Given the description of an element on the screen output the (x, y) to click on. 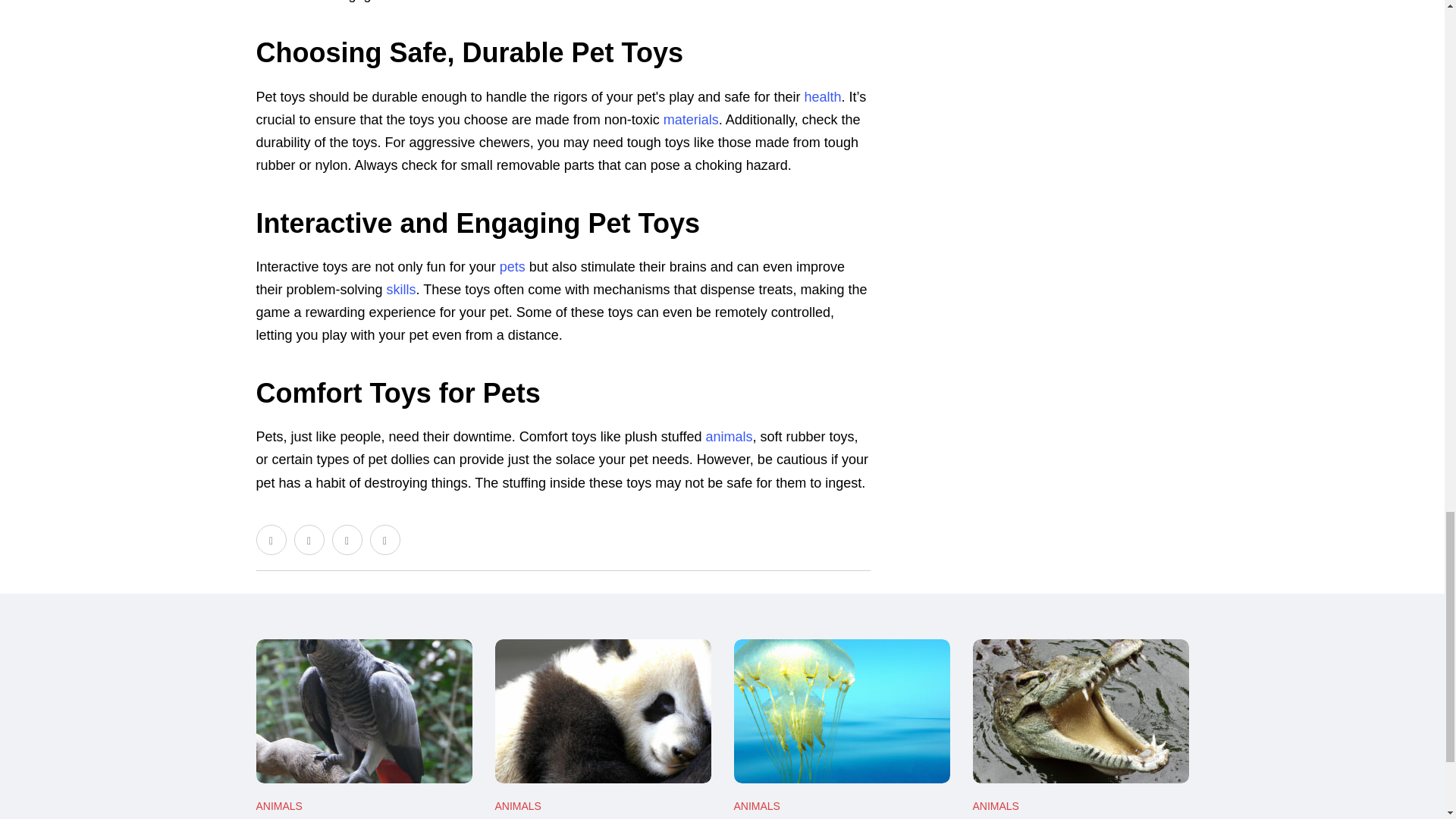
pets (512, 266)
animals (728, 436)
materials (691, 119)
skills (401, 289)
health (822, 96)
health (822, 96)
materials (691, 119)
pets (512, 266)
